Given the description of an element on the screen output the (x, y) to click on. 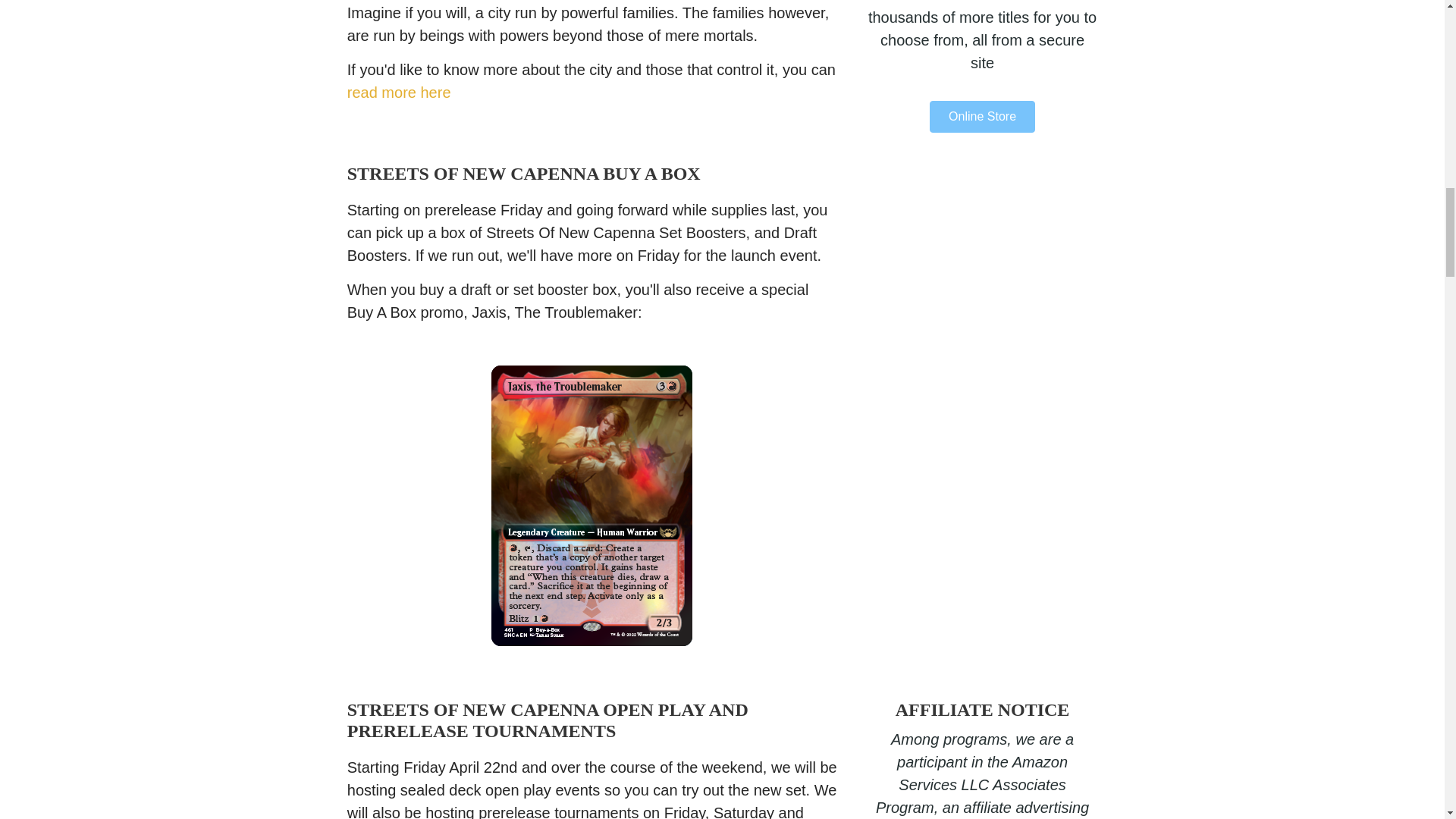
Online Store (982, 116)
read more here (399, 92)
